Given the description of an element on the screen output the (x, y) to click on. 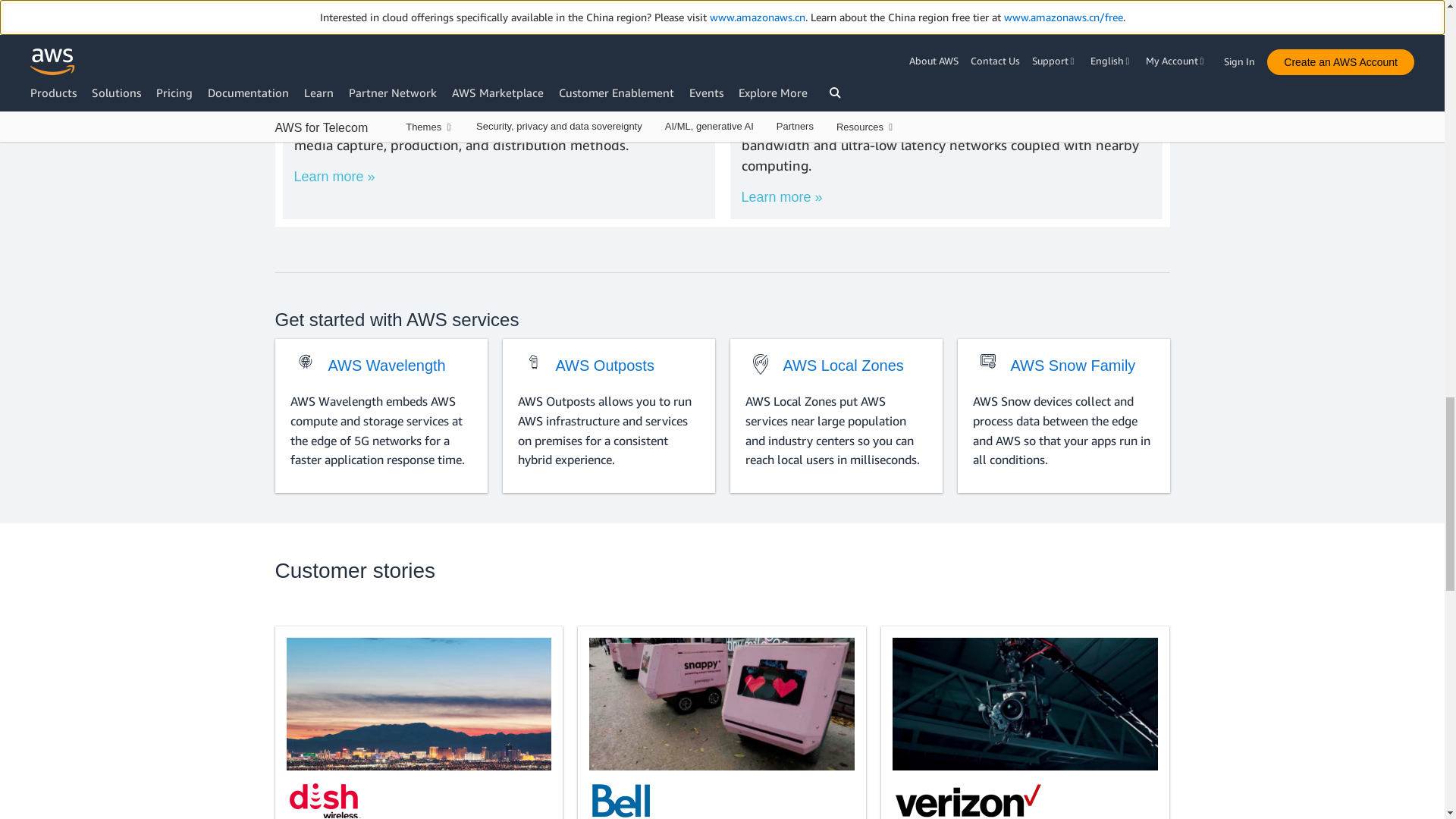
AWS Wavelength (305, 361)
Real-time video streaming (498, 38)
AWS Outposts (532, 361)
Immersive experiences (946, 38)
